Given the description of an element on the screen output the (x, y) to click on. 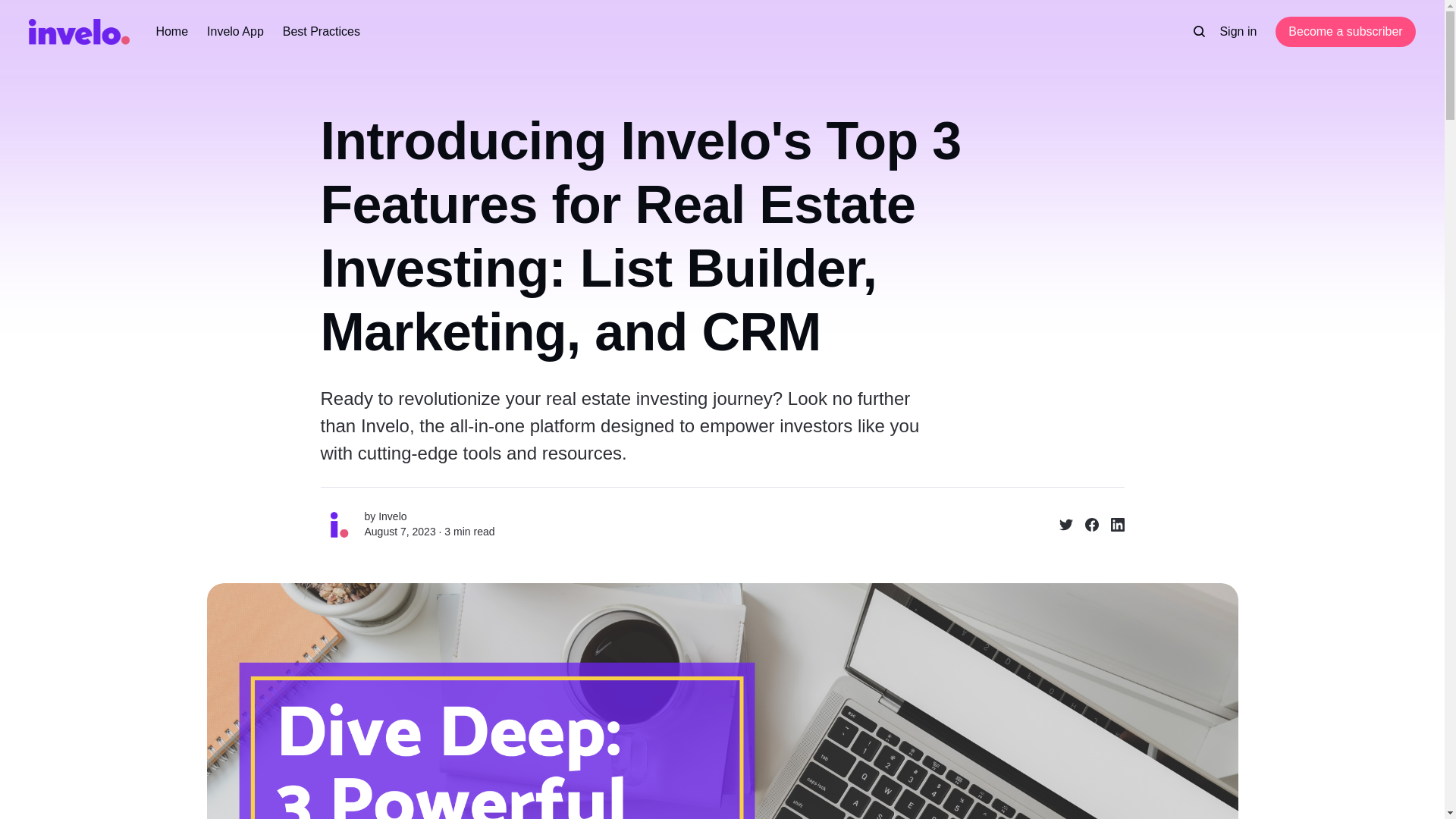
Home (171, 31)
Sign in (1238, 31)
Invelo App (234, 31)
Become a subscriber (1345, 31)
Best Practices (320, 31)
Invelo (392, 516)
